Given the description of an element on the screen output the (x, y) to click on. 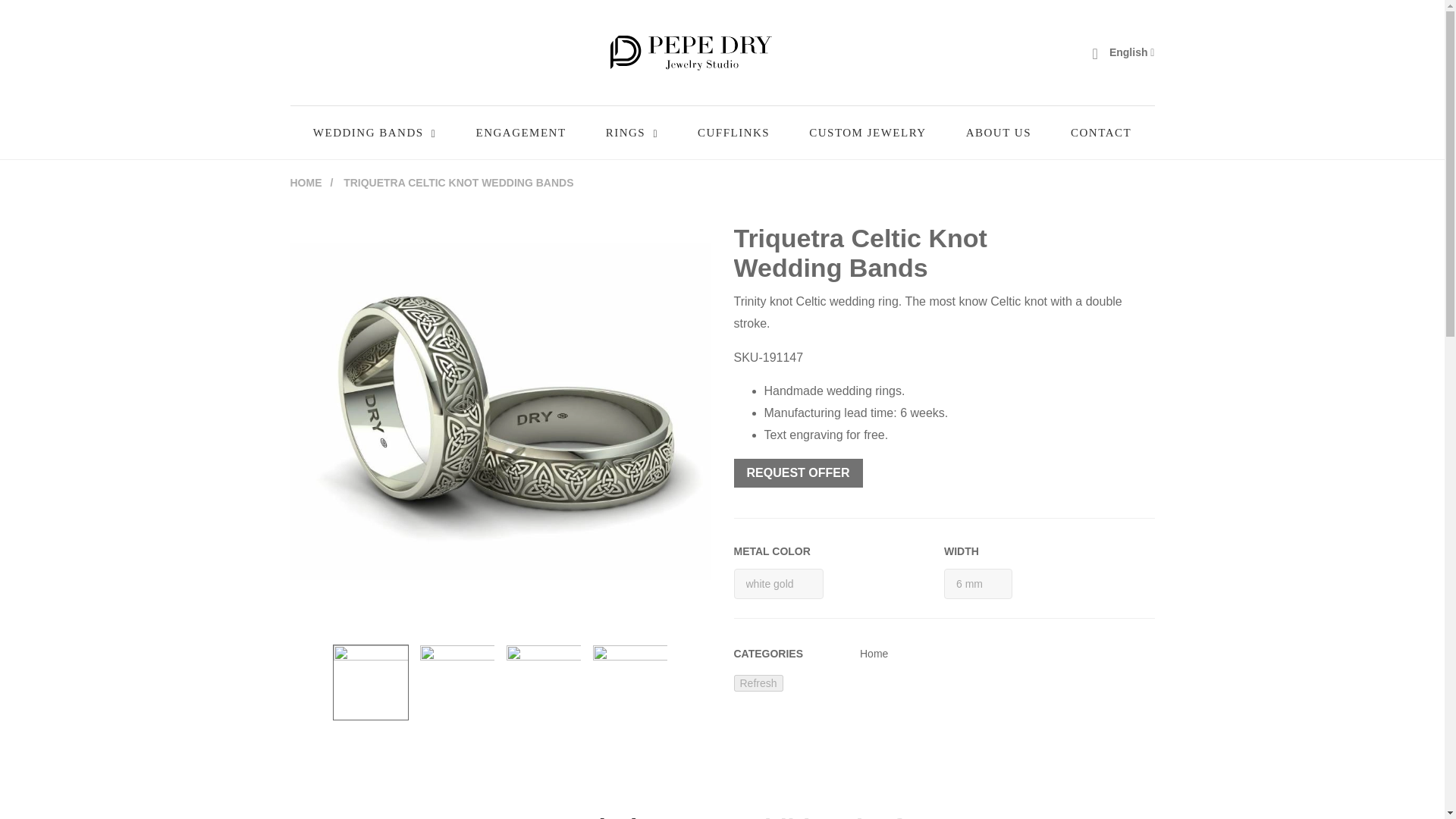
ABOUT US (998, 132)
WEDDING BANDS (374, 132)
Refresh (758, 682)
ENGAGEMENT (521, 132)
Pepedry (690, 51)
RINGS (631, 132)
English (1131, 51)
CUFFLINKS (733, 132)
CUSTOM JEWELRY (867, 132)
CONTACT (1100, 132)
